Given the description of an element on the screen output the (x, y) to click on. 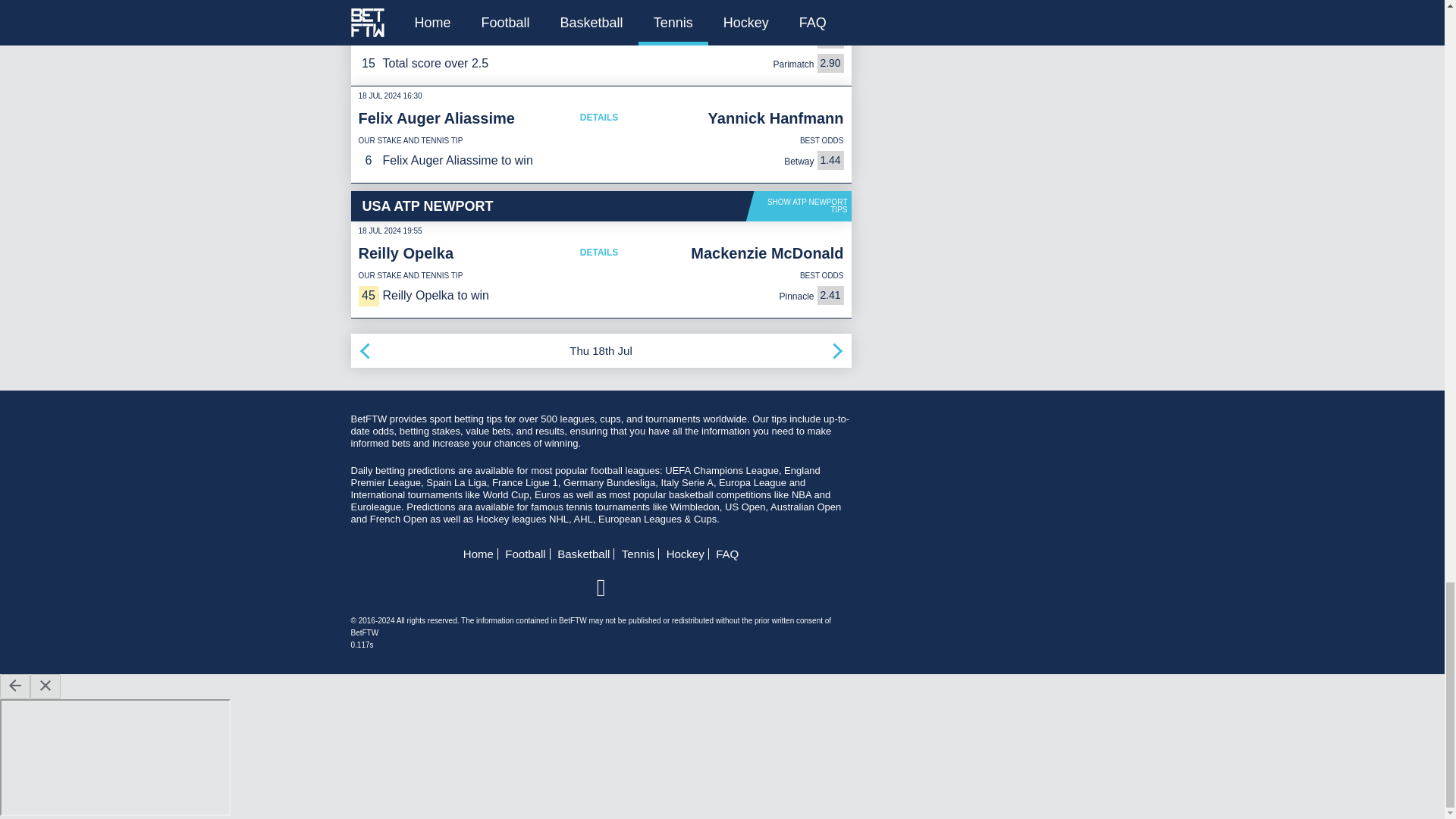
DETAILS (599, 252)
DETAILS (599, 2)
SHOW ATP NEWPORT TIPS (799, 205)
DETAILS (599, 117)
